Given the description of an element on the screen output the (x, y) to click on. 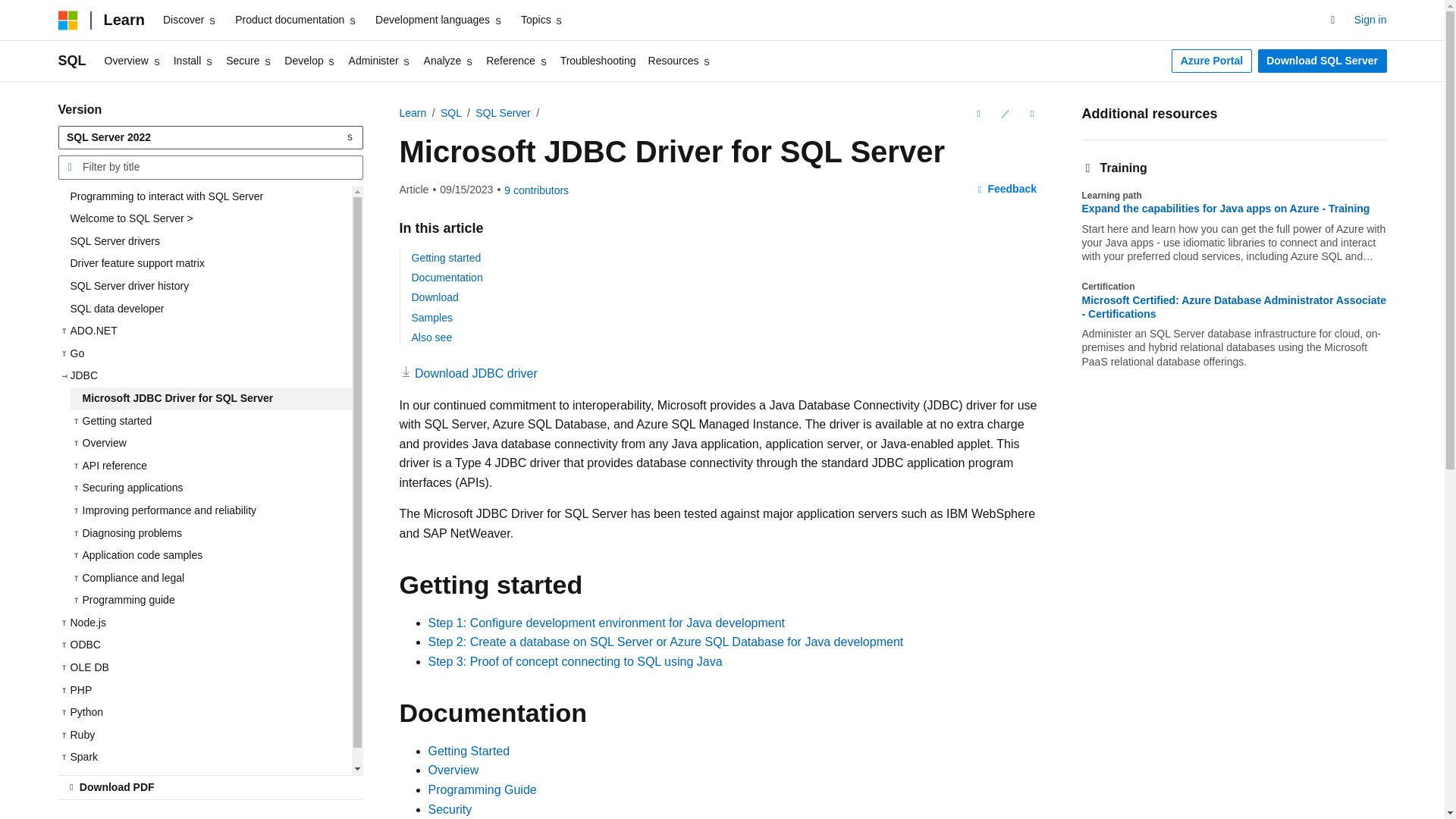
SQL (71, 60)
Discover (189, 20)
Development languages (438, 20)
View all contributors (536, 190)
Learn (123, 19)
Edit This Document (1004, 113)
More actions (1031, 113)
Product documentation (295, 20)
Overview (133, 60)
Sign in (1370, 20)
Topics (542, 20)
Skip to main content (11, 11)
Install (193, 60)
